Given the description of an element on the screen output the (x, y) to click on. 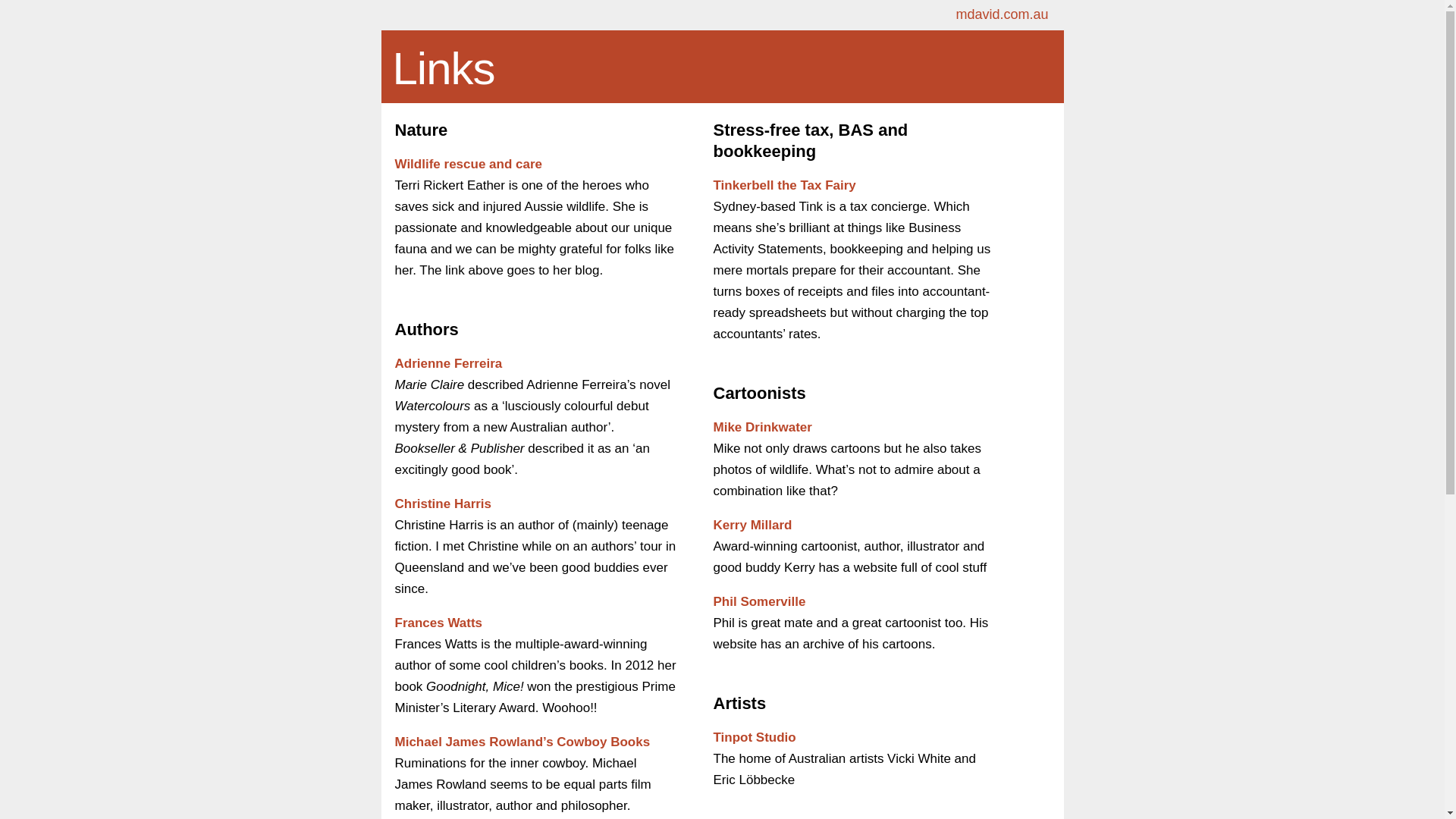
Frances Watts Element type: text (438, 622)
Tinpot Studio Element type: text (753, 737)
mdavid.com.au Element type: text (1001, 13)
Kerry Millard Element type: text (751, 524)
Mike Drinkwater Element type: text (761, 427)
Adrienne Ferreira Element type: text (448, 363)
Wildlife rescue and care Element type: text (467, 163)
Phil Somerville Element type: text (758, 601)
Christine Harris Element type: text (442, 503)
Tinkerbell the Tax Fairy Element type: text (783, 185)
